Given the description of an element on the screen output the (x, y) to click on. 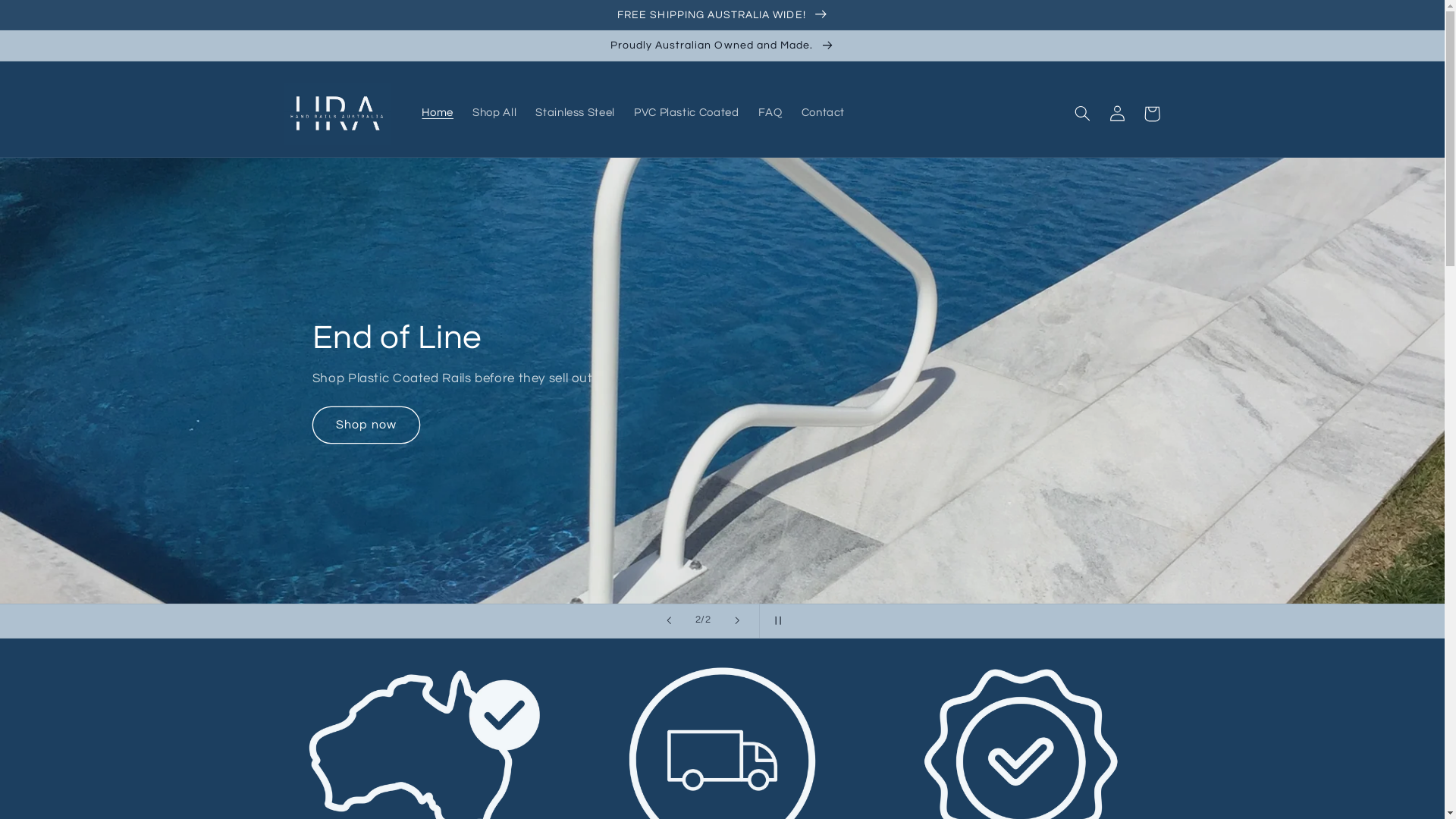
FAQ Element type: text (769, 113)
Contact Element type: text (822, 113)
Stainless Steel Element type: text (575, 113)
Cart Element type: text (1151, 113)
Shop All Element type: text (494, 113)
Proudly Australian Owned and Made. Element type: text (722, 44)
PVC Plastic Coated Element type: text (686, 113)
Log in Element type: text (1116, 113)
Shop now Element type: text (366, 424)
Home Element type: text (437, 113)
FREE SHIPPING AUSTRALIA WIDE! Element type: text (722, 14)
